Given the description of an element on the screen output the (x, y) to click on. 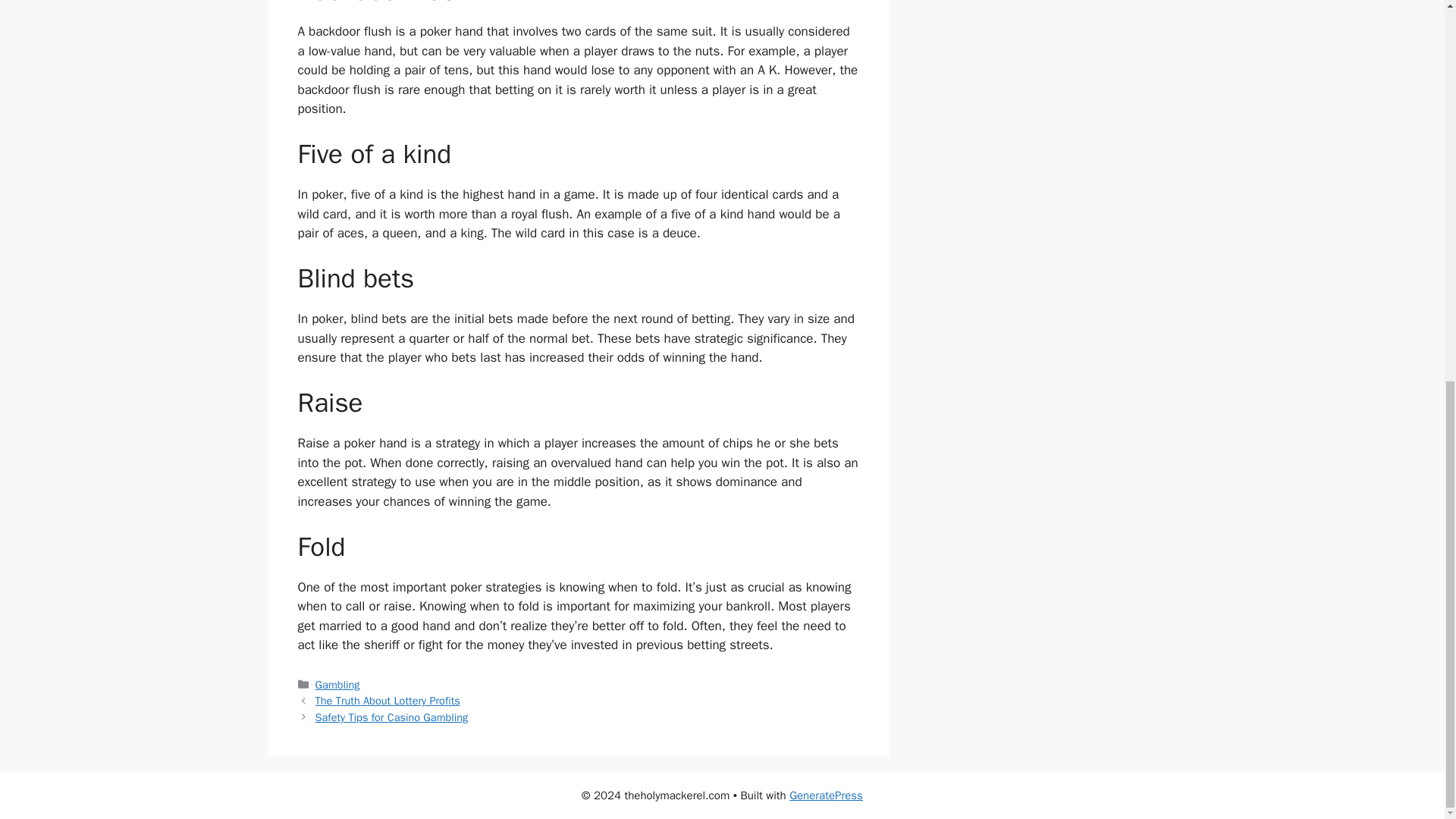
GeneratePress (826, 795)
The Truth About Lottery Profits (387, 700)
Safety Tips for Casino Gambling (391, 716)
Gambling (337, 684)
